Given the description of an element on the screen output the (x, y) to click on. 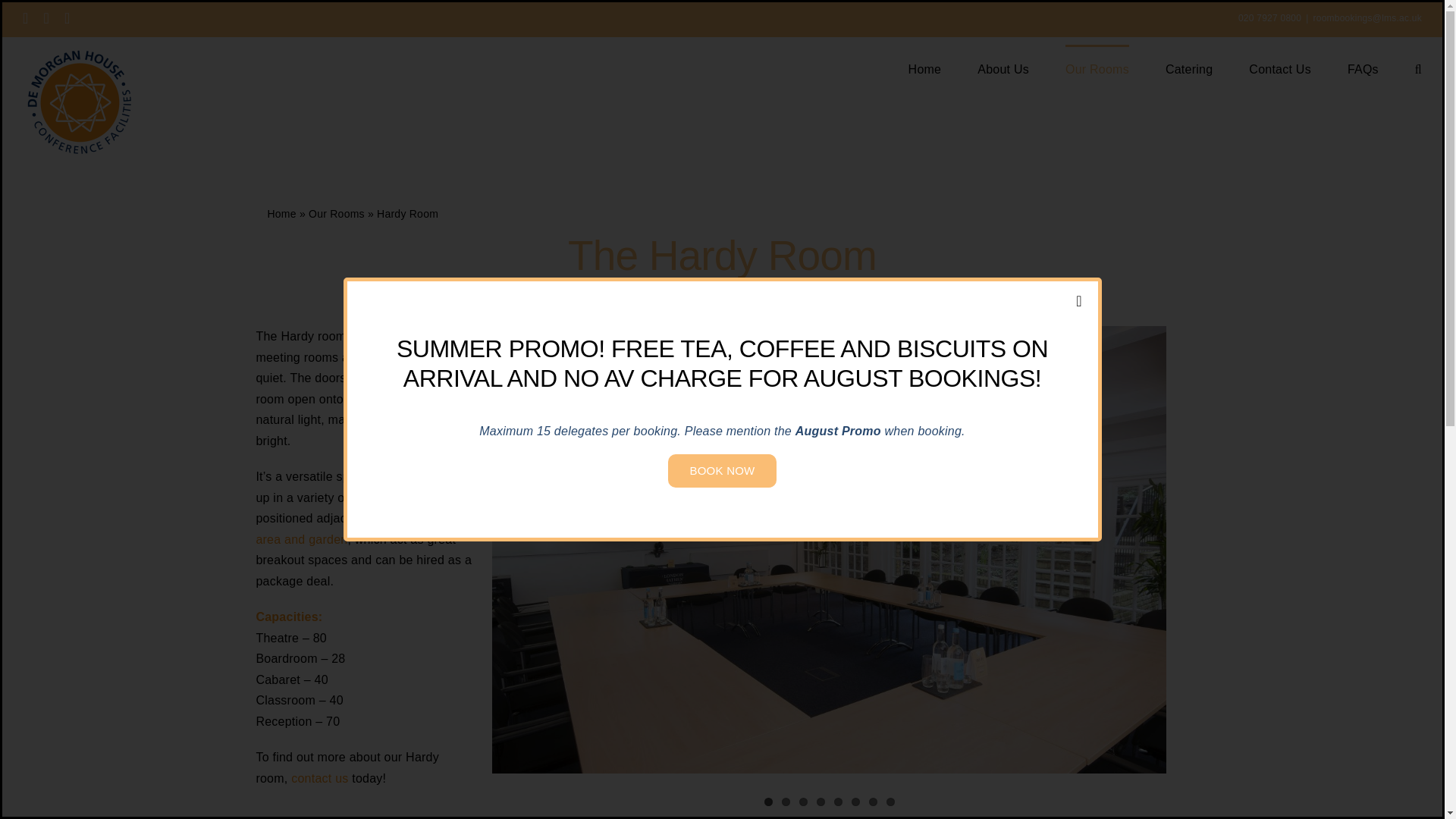
About Us (1002, 68)
Catering (1189, 68)
Our Rooms (1097, 68)
Catering (1189, 68)
About Us (1002, 68)
Contact Us (1280, 68)
Our Rooms (1097, 68)
Contact Us (1280, 68)
